Given the description of an element on the screen output the (x, y) to click on. 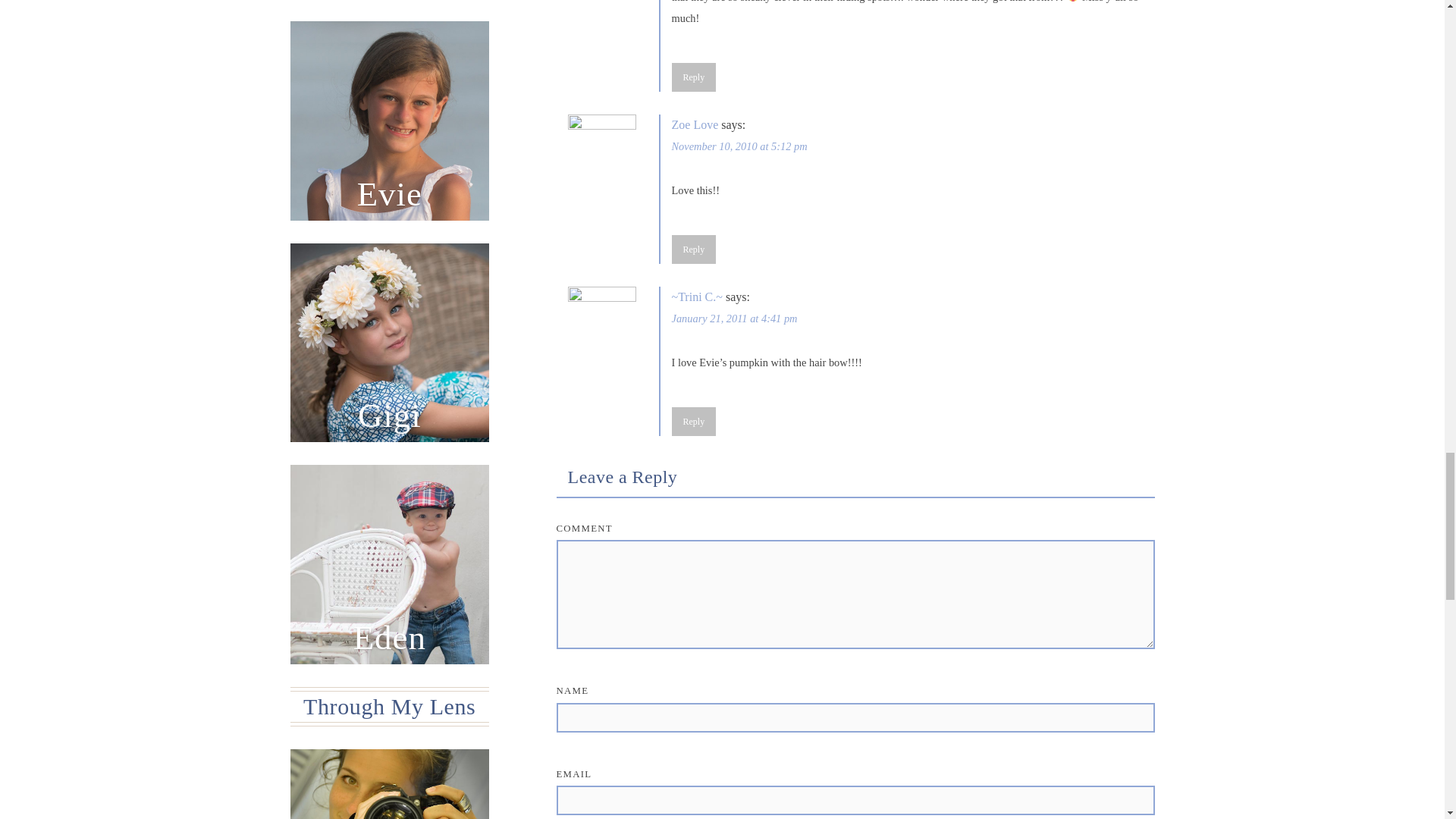
Zoe Love (695, 124)
Reply (693, 77)
Reply (693, 249)
Gigi (389, 343)
Evie (389, 120)
Eden (389, 564)
January 21, 2011 at 4:41 pm (734, 318)
November 10, 2010 at 5:12 pm (739, 146)
Reply (693, 421)
